Given the description of an element on the screen output the (x, y) to click on. 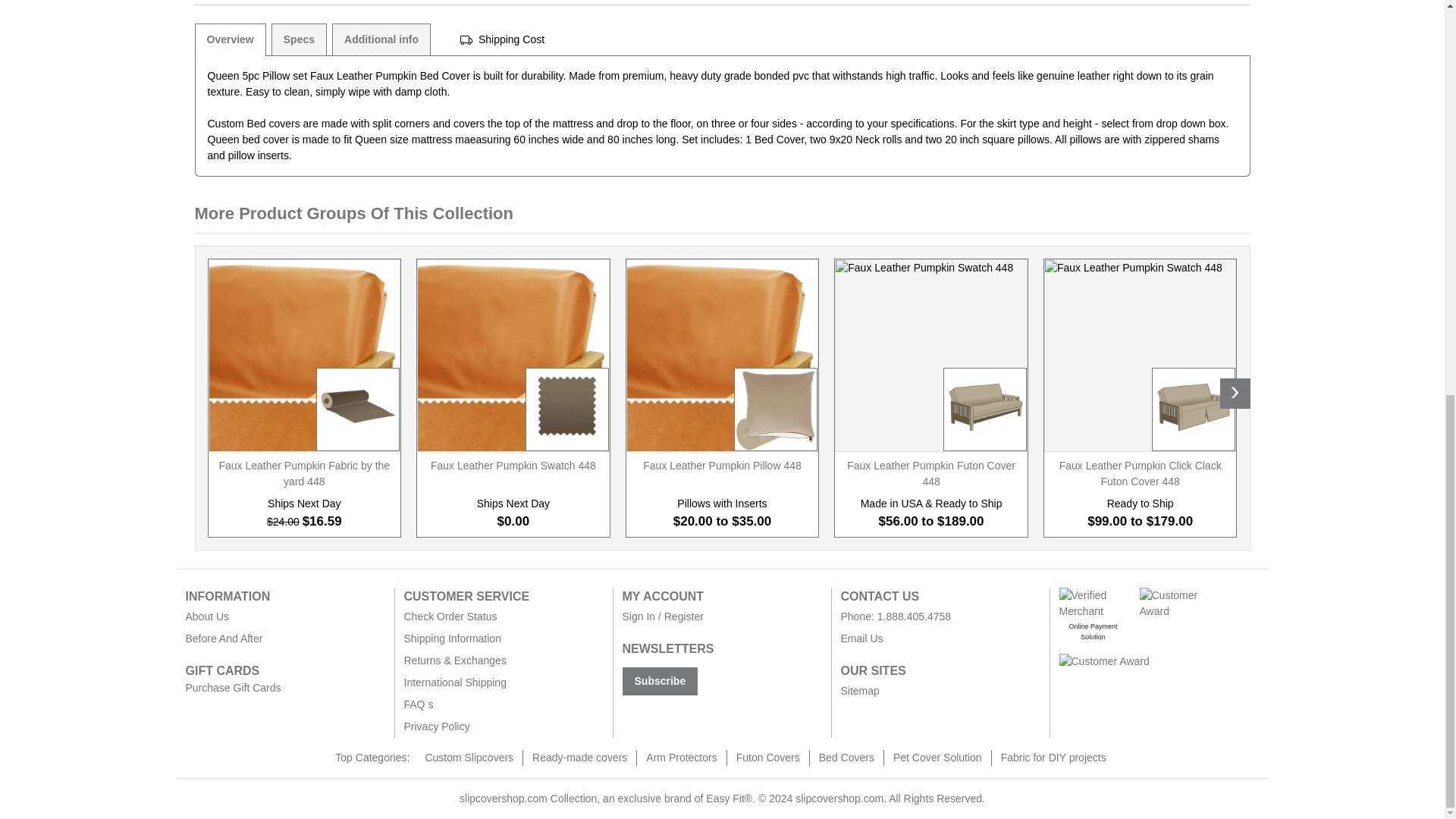
Show details for Faux Leather Pumpkin Swatch 448 (512, 355)
Show details for Faux Leather Pumpkin Futon Cover 448 Full (930, 355)
